Given the description of an element on the screen output the (x, y) to click on. 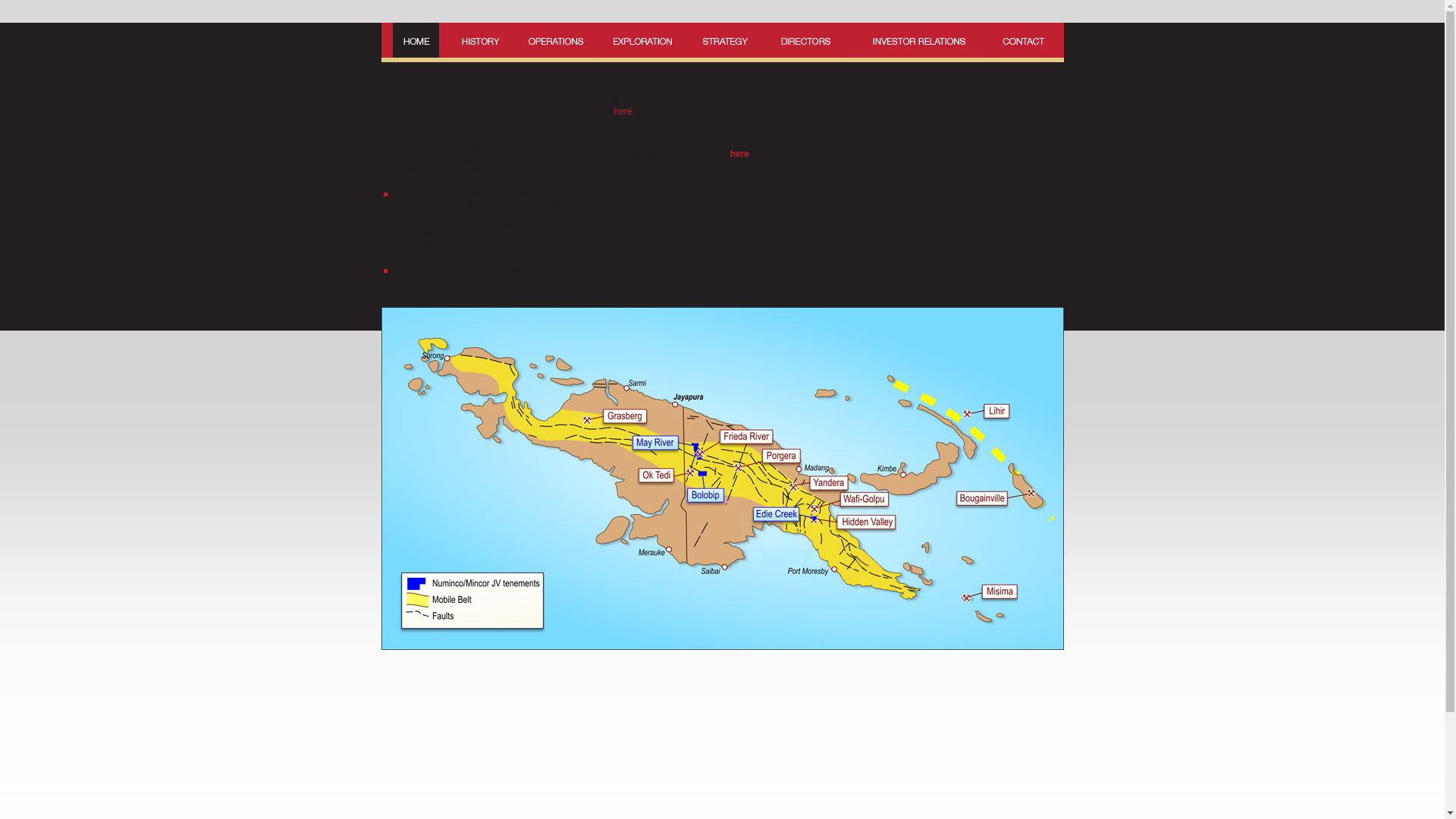
 here Element type: text (738, 153)
here. Element type: text (624, 111)
  Element type: text (615, 121)
